Given the description of an element on the screen output the (x, y) to click on. 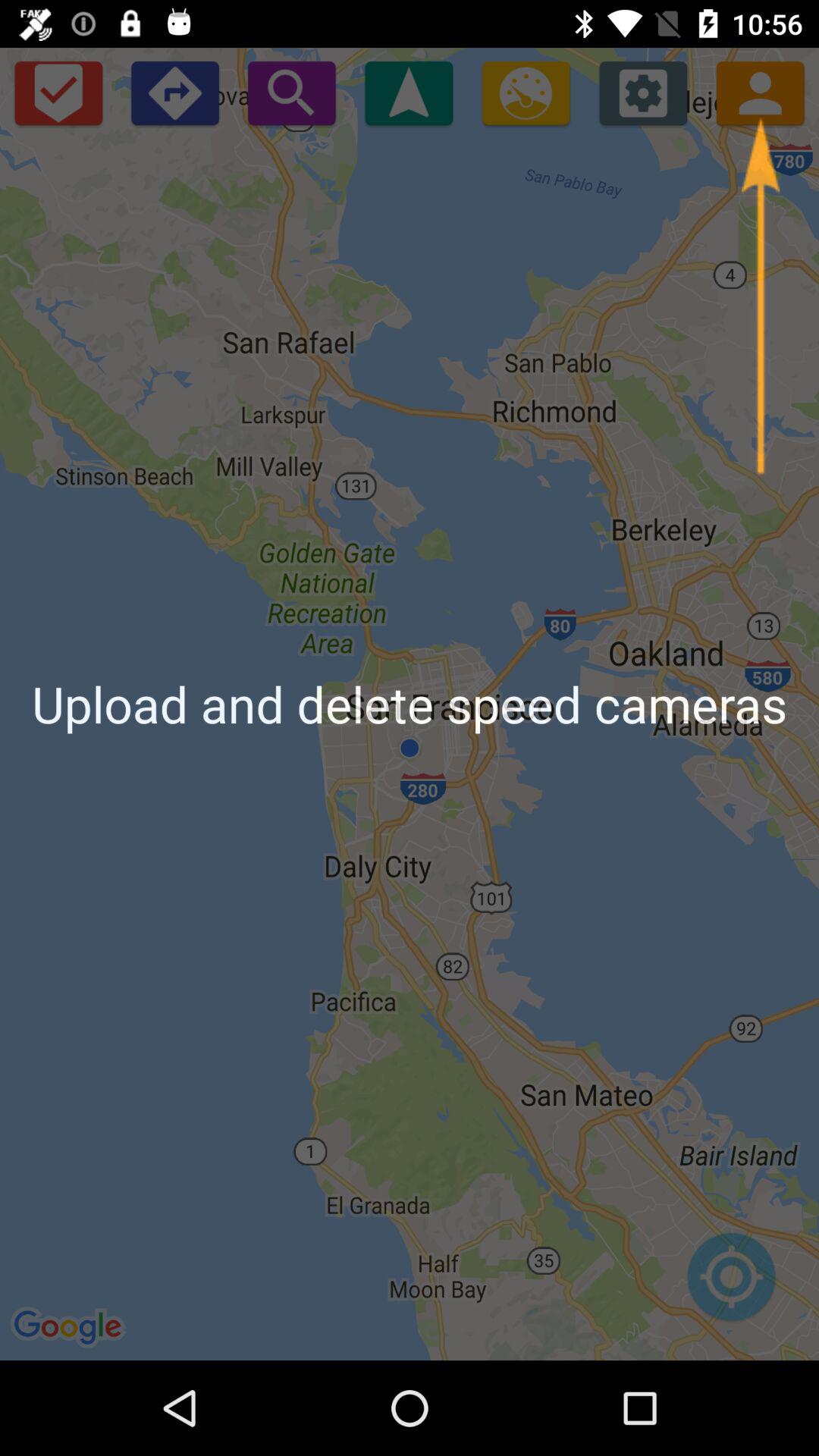
going to the text (408, 92)
